Given the description of an element on the screen output the (x, y) to click on. 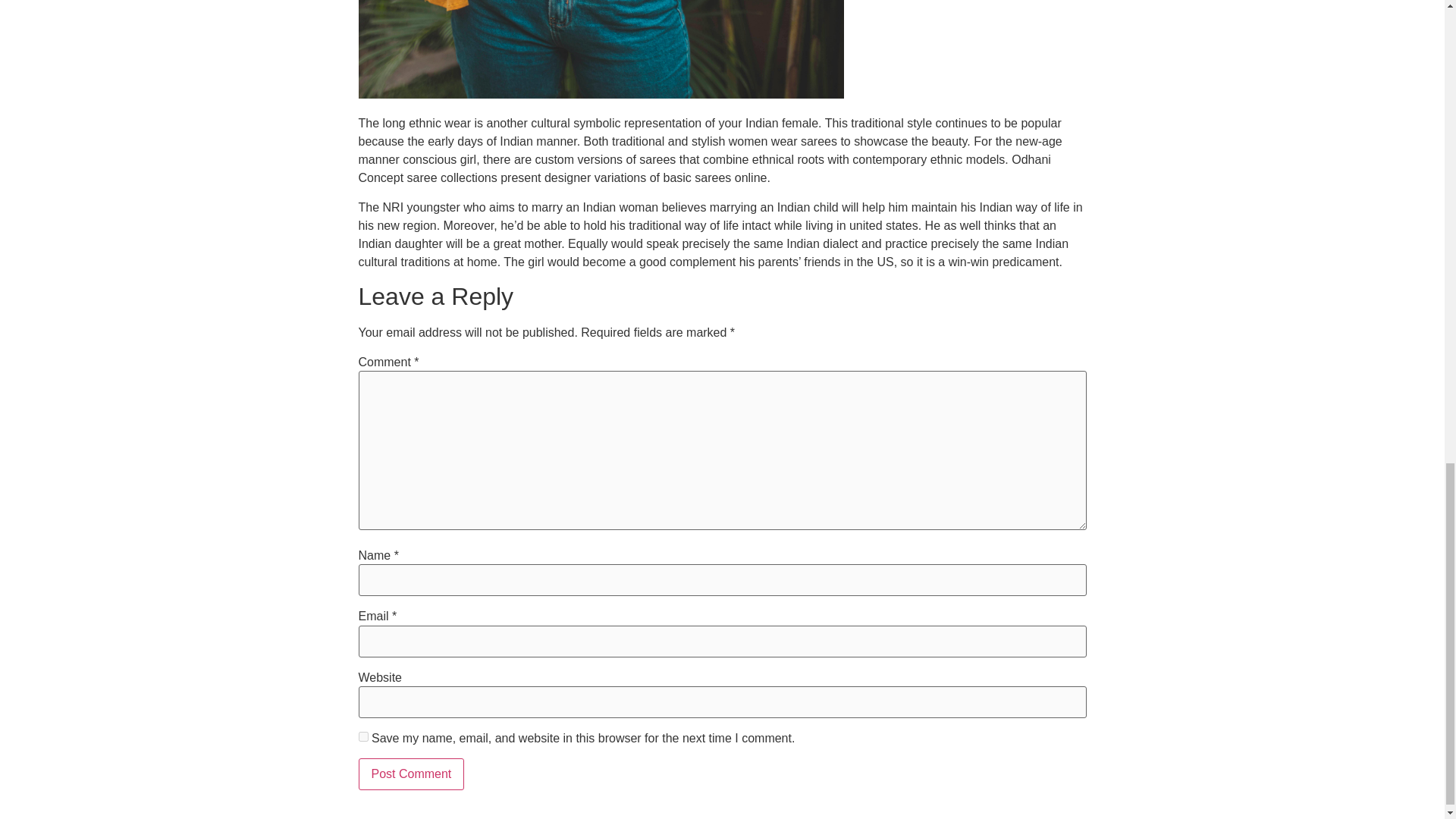
Post Comment (411, 774)
Post Comment (411, 774)
yes (363, 737)
